Given the description of an element on the screen output the (x, y) to click on. 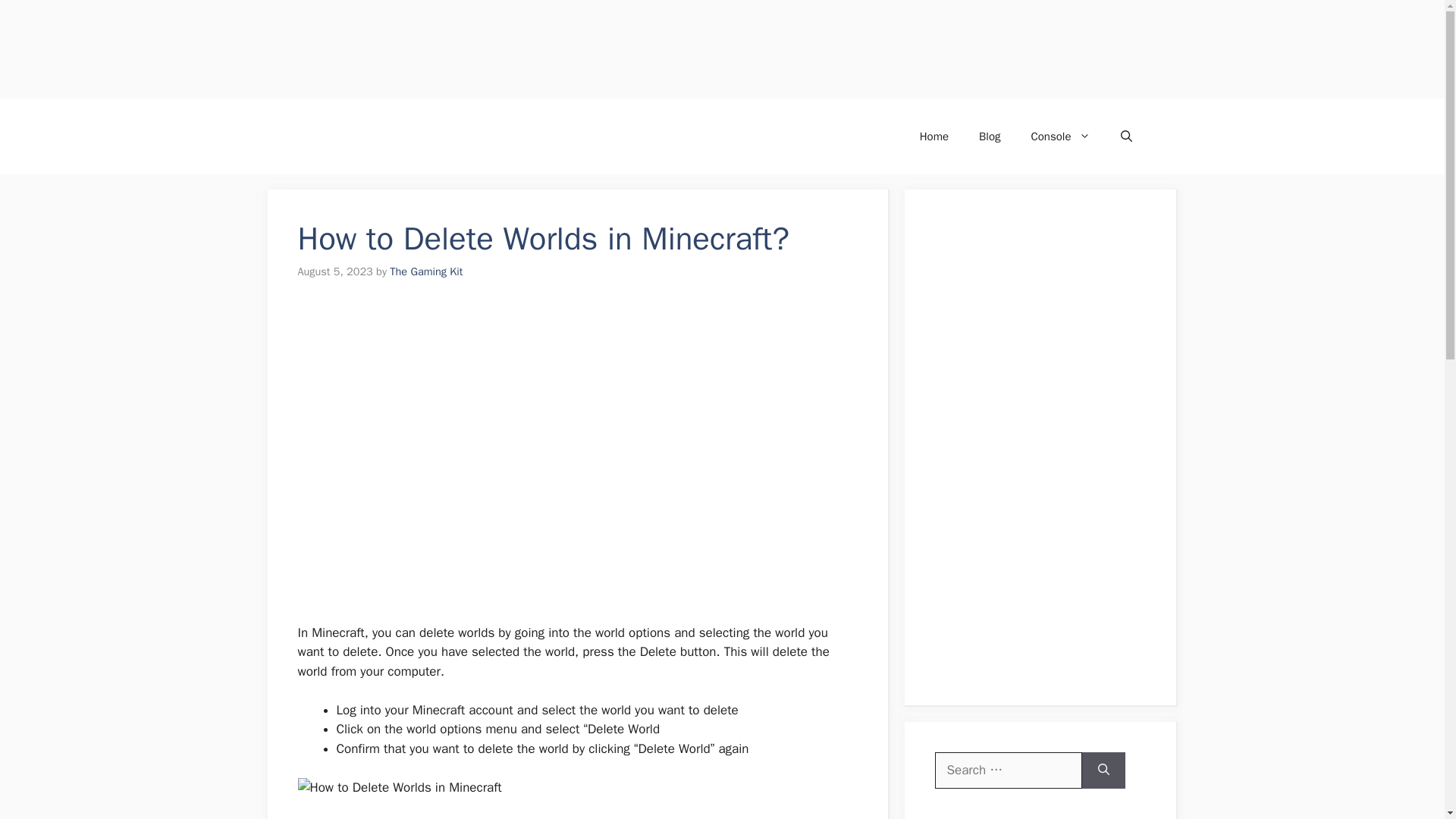
Search for: (1007, 770)
Blog (988, 135)
Advertisement (569, 529)
Home (933, 135)
Advertisement (455, 49)
Console (1059, 135)
The Gaming Kit (426, 271)
View all posts by The Gaming Kit (426, 271)
